Given the description of an element on the screen output the (x, y) to click on. 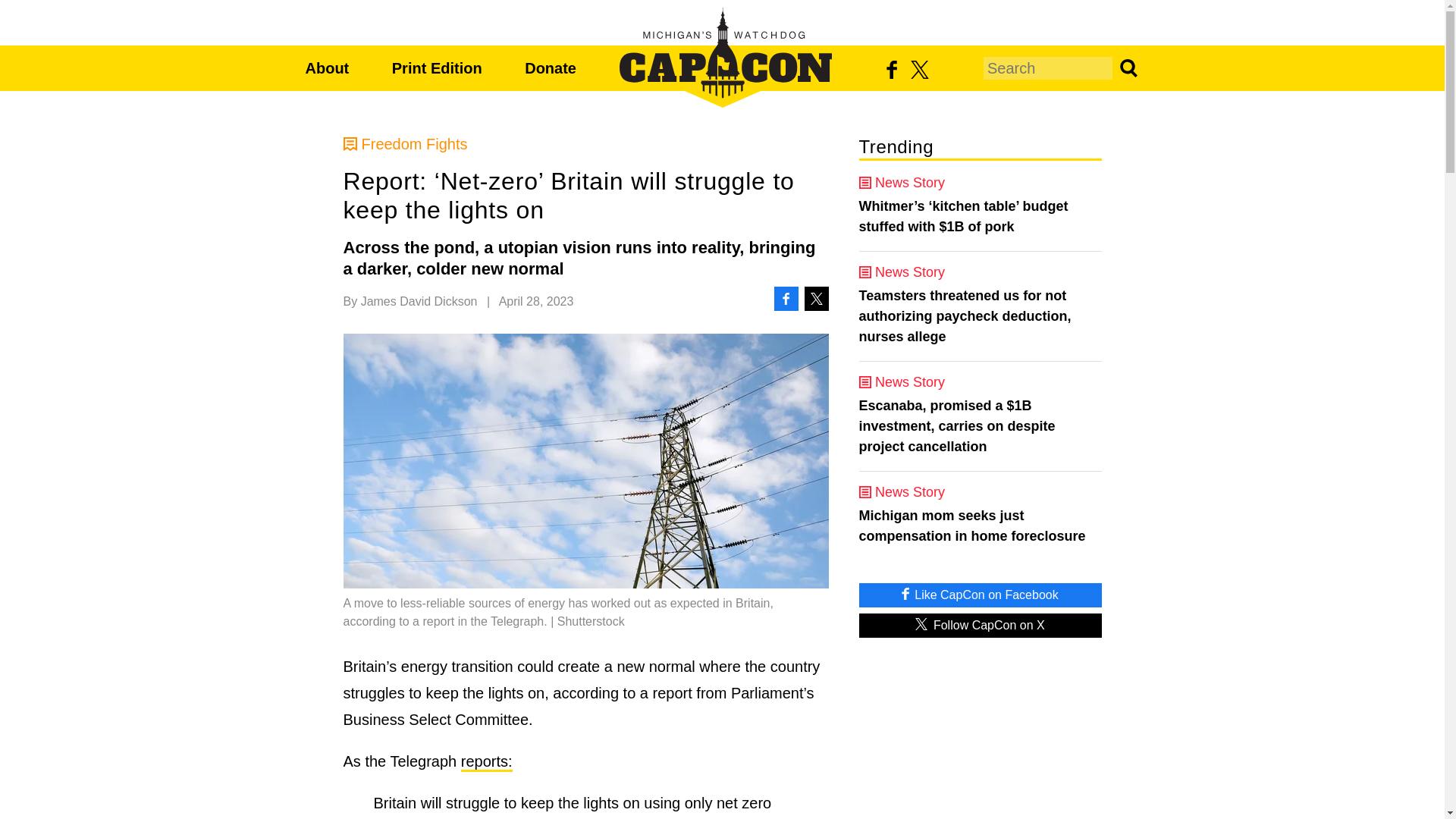
News Story (979, 382)
Michigan mom seeks just compensation in home foreclosure (979, 526)
Like CapCon on Facebook (979, 595)
James David Dickson (419, 300)
News Story (979, 182)
About (326, 67)
Donate (550, 67)
reports: (486, 762)
News Story (979, 272)
